Given the description of an element on the screen output the (x, y) to click on. 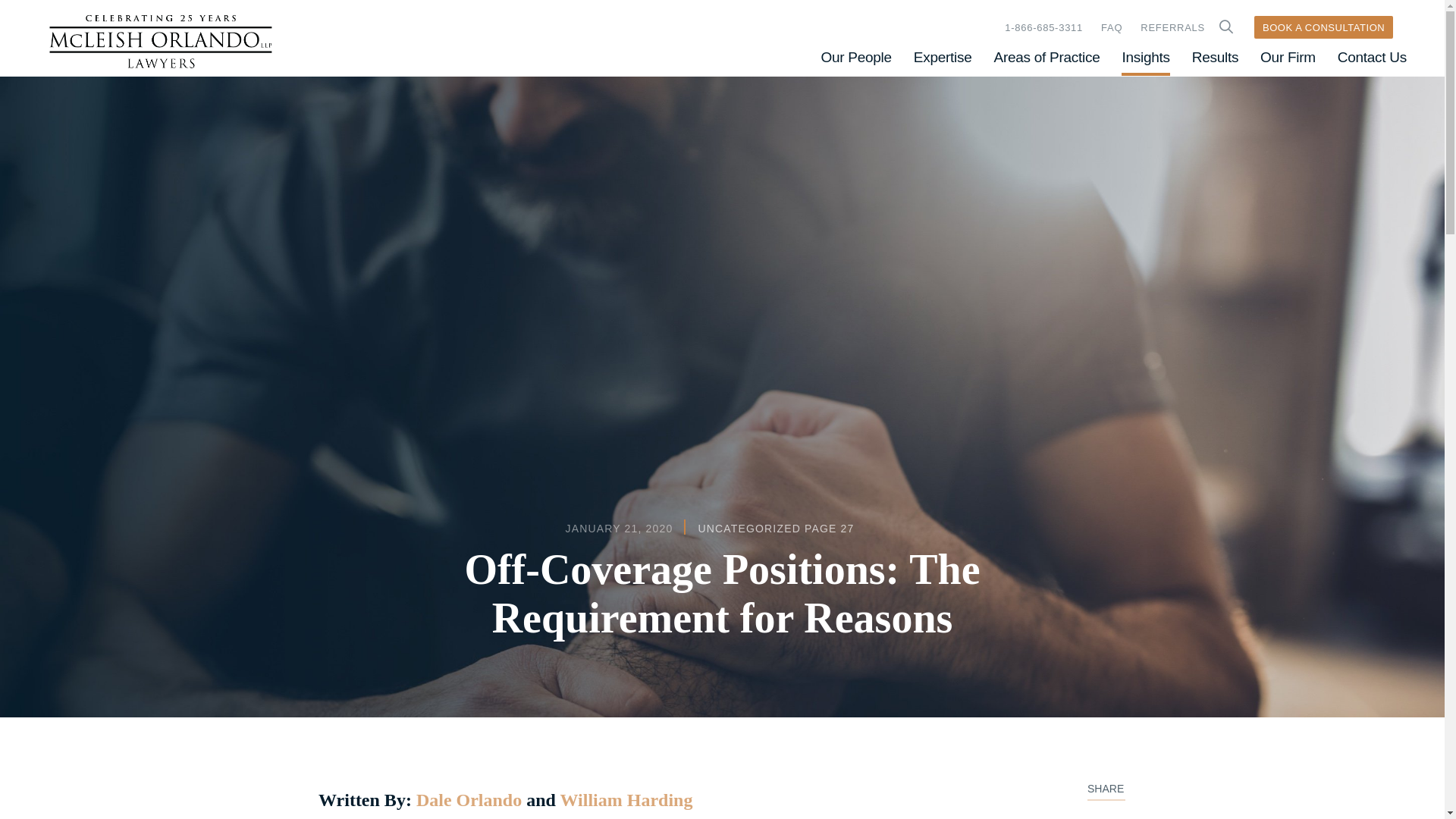
Contact Us (1372, 57)
Submit (1225, 26)
Our People (856, 57)
FAQ (1111, 27)
Areas of Practice (1047, 57)
Our Firm (1288, 57)
1-866-685-3311 (1043, 27)
View all posts in Uncategorized Page 27 (775, 528)
Results (1215, 57)
Insights (1145, 57)
Expertise (943, 57)
